Given the description of an element on the screen output the (x, y) to click on. 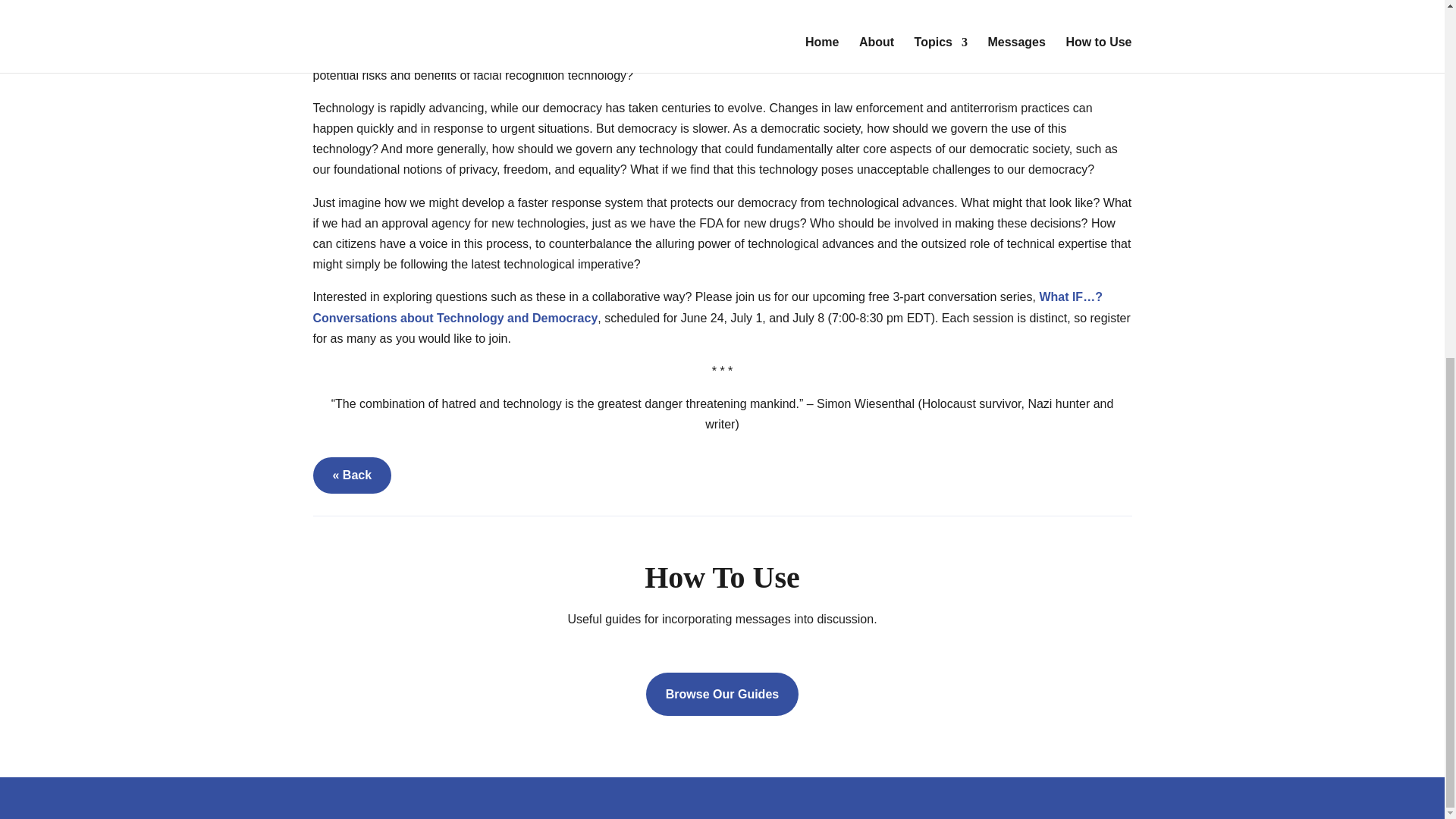
Browse Our Guides (721, 693)
